Given the description of an element on the screen output the (x, y) to click on. 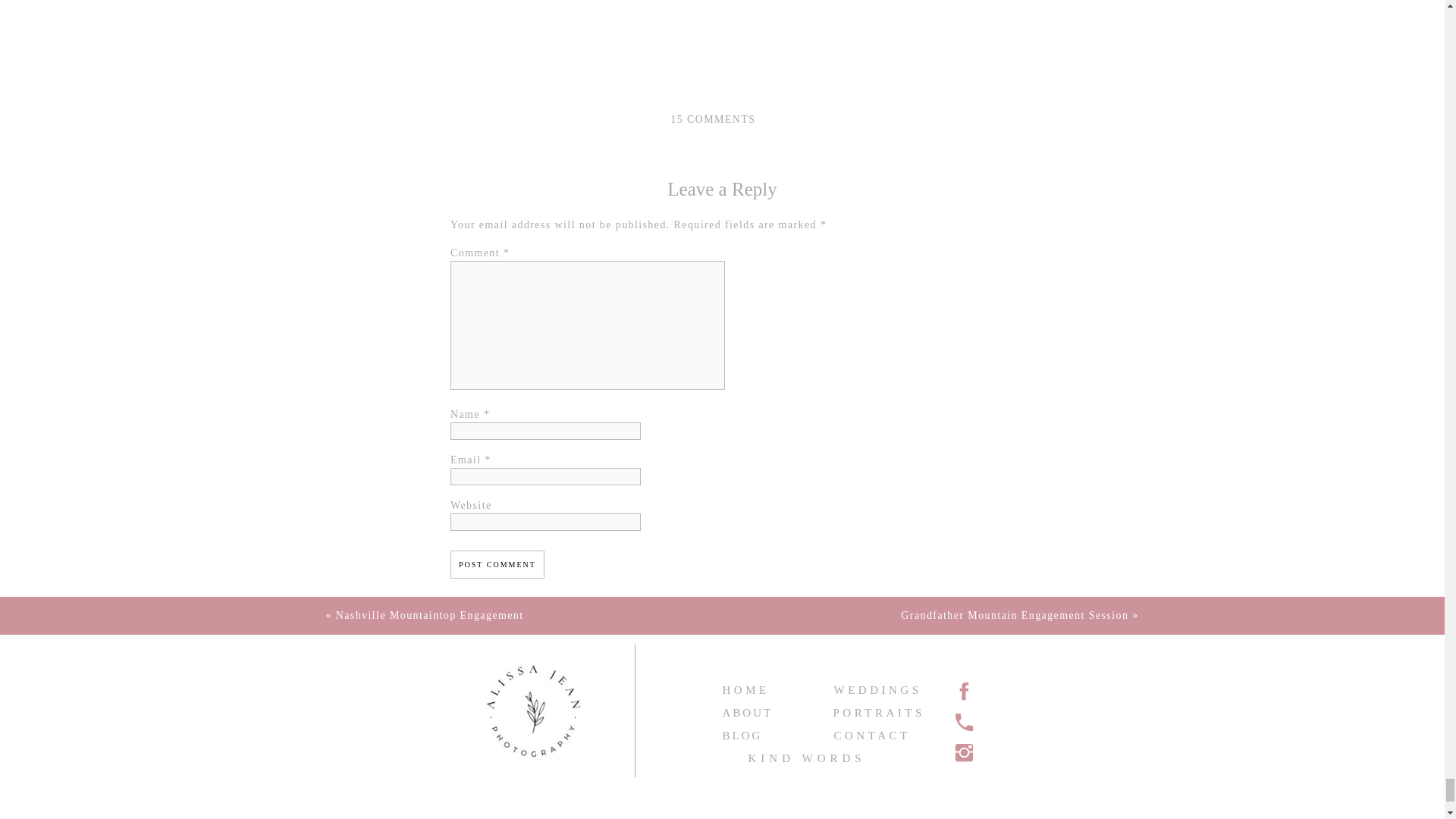
Post Comment (496, 564)
HOME (757, 687)
CONTACT (874, 733)
KIND WORDS (819, 762)
Nashville Mountaintop Engagement (430, 614)
WEDDINGS (878, 687)
ABOUT (760, 710)
BLOG (760, 733)
Grandfather Mountain Engagement Session (1014, 614)
PORTRAITS (872, 710)
